Given the description of an element on the screen output the (x, y) to click on. 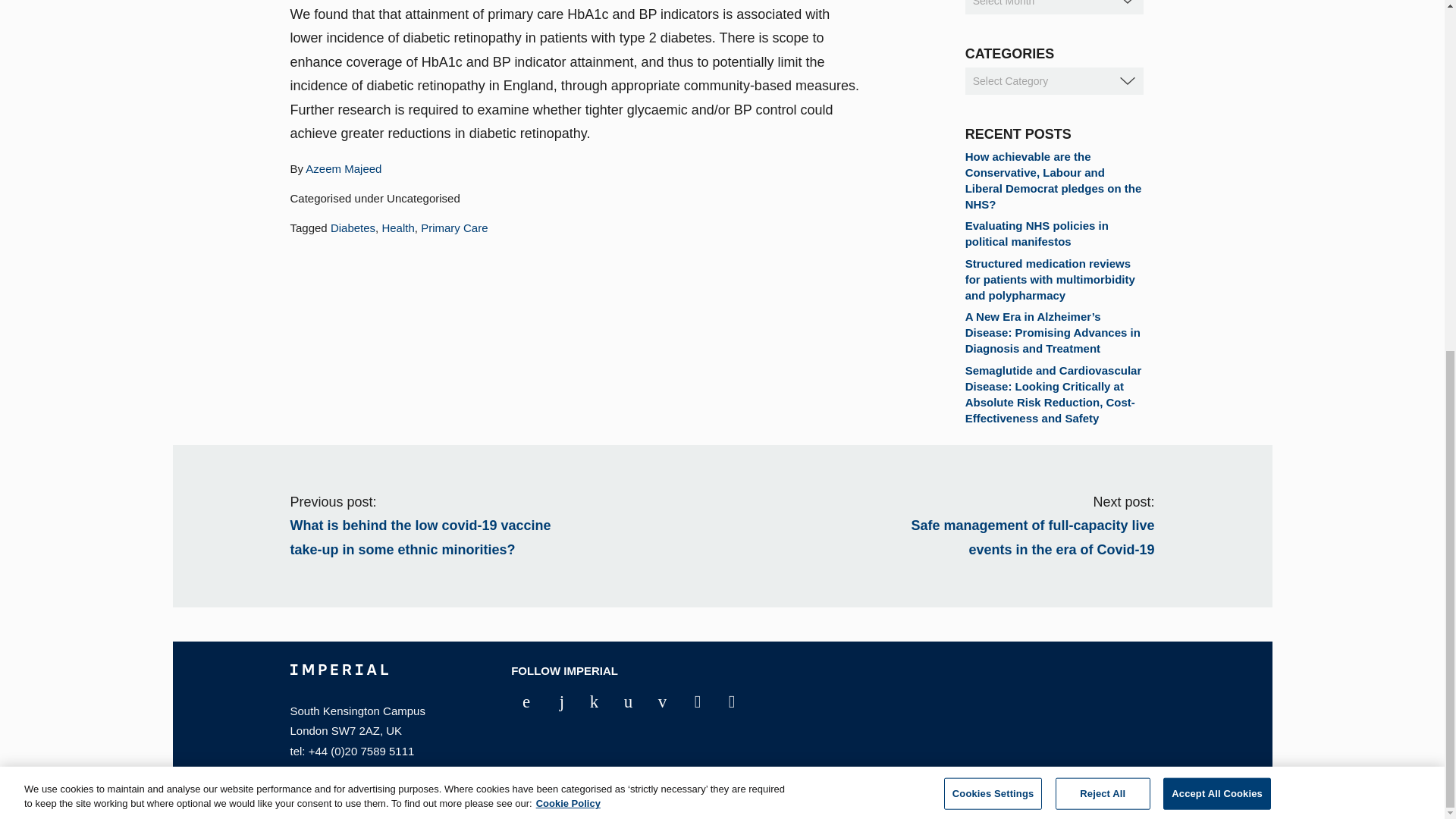
Reject All (1102, 183)
Primary Care (453, 227)
Cookies Settings (992, 183)
Imperial College London (338, 682)
Facebook (520, 701)
Instagram (690, 701)
Weibo (725, 701)
Accessibility (588, 784)
Use of cookies (673, 784)
Azeem Majeed (343, 168)
YouTube (588, 701)
Health (397, 227)
